Given the description of an element on the screen output the (x, y) to click on. 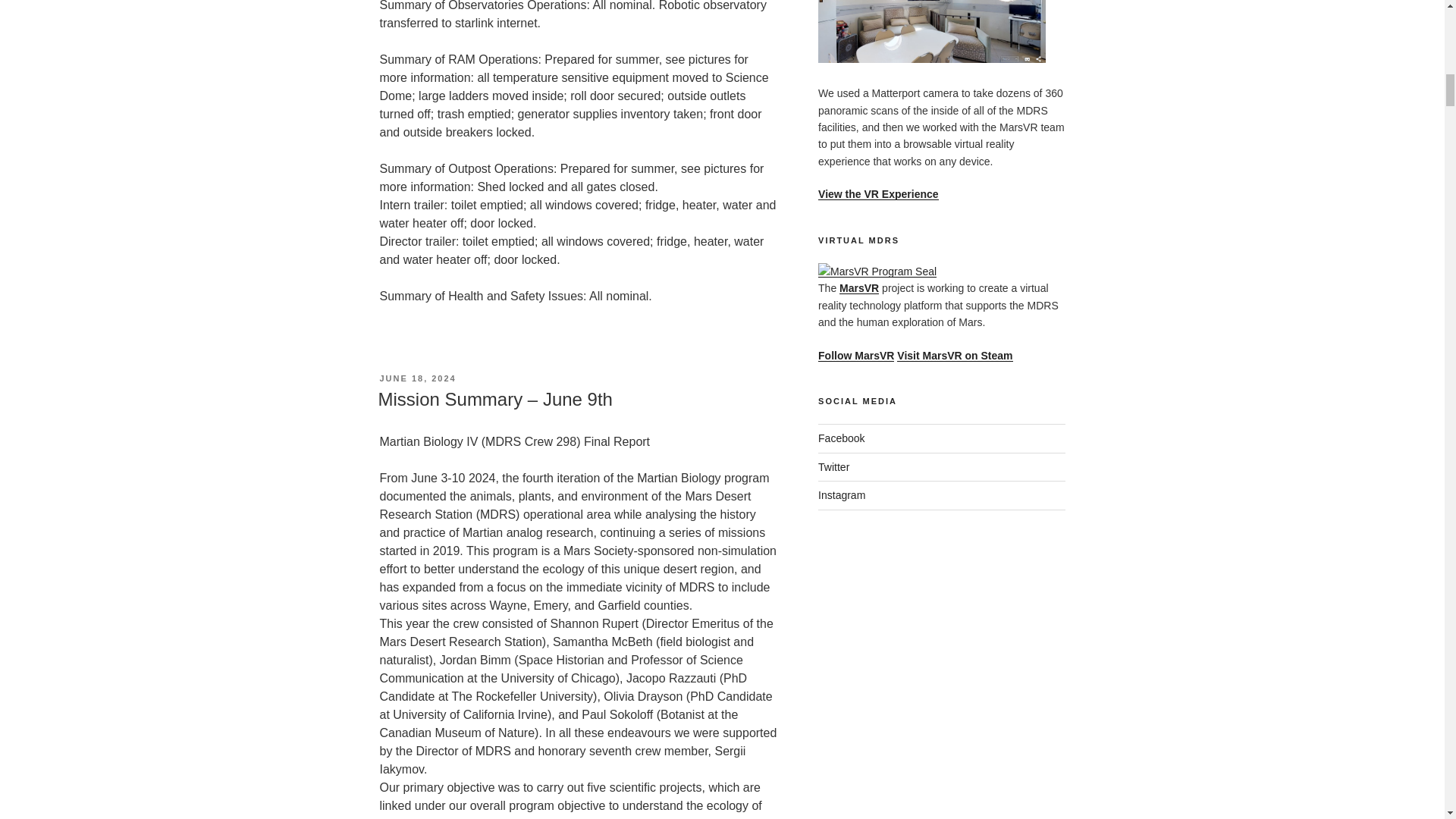
JUNE 18, 2024 (416, 378)
